Given the description of an element on the screen output the (x, y) to click on. 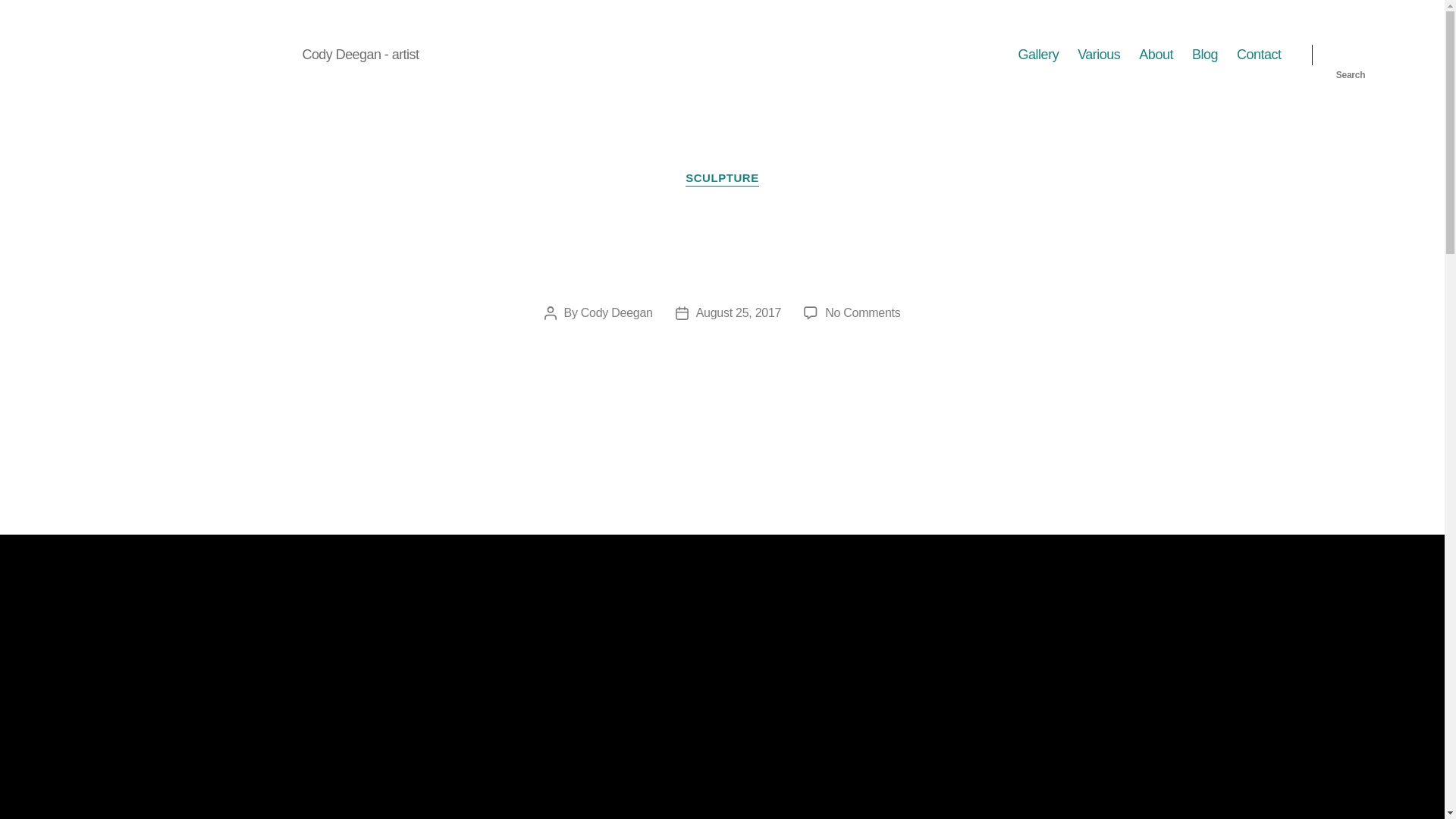
SCULPTURE (721, 178)
Blog (1204, 54)
Contact (1258, 54)
Various (1098, 54)
Cody Deegan (616, 312)
Gallery (1038, 54)
August 25, 2017 (738, 312)
Search (1350, 55)
About (1155, 54)
